Given the description of an element on the screen output the (x, y) to click on. 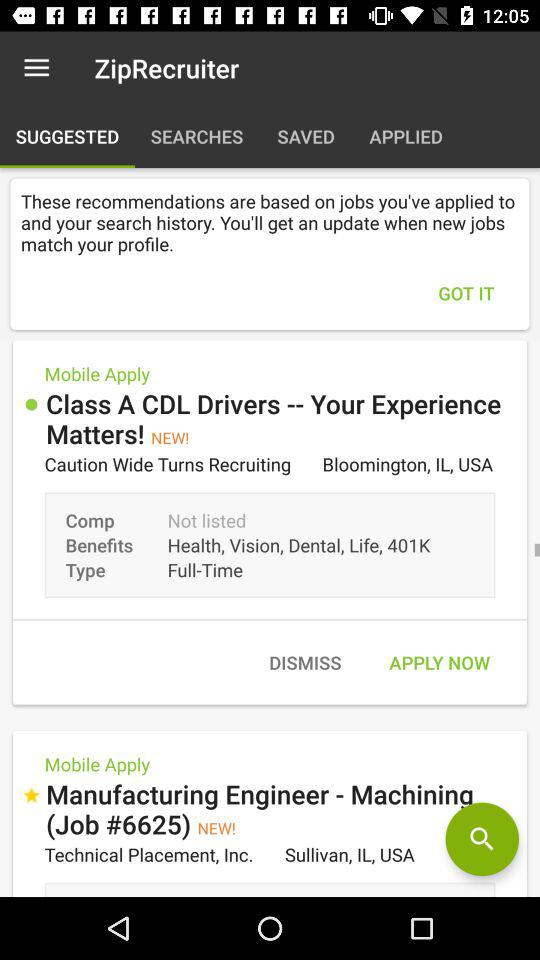
choose icon to the left of apply now icon (304, 662)
